Given the description of an element on the screen output the (x, y) to click on. 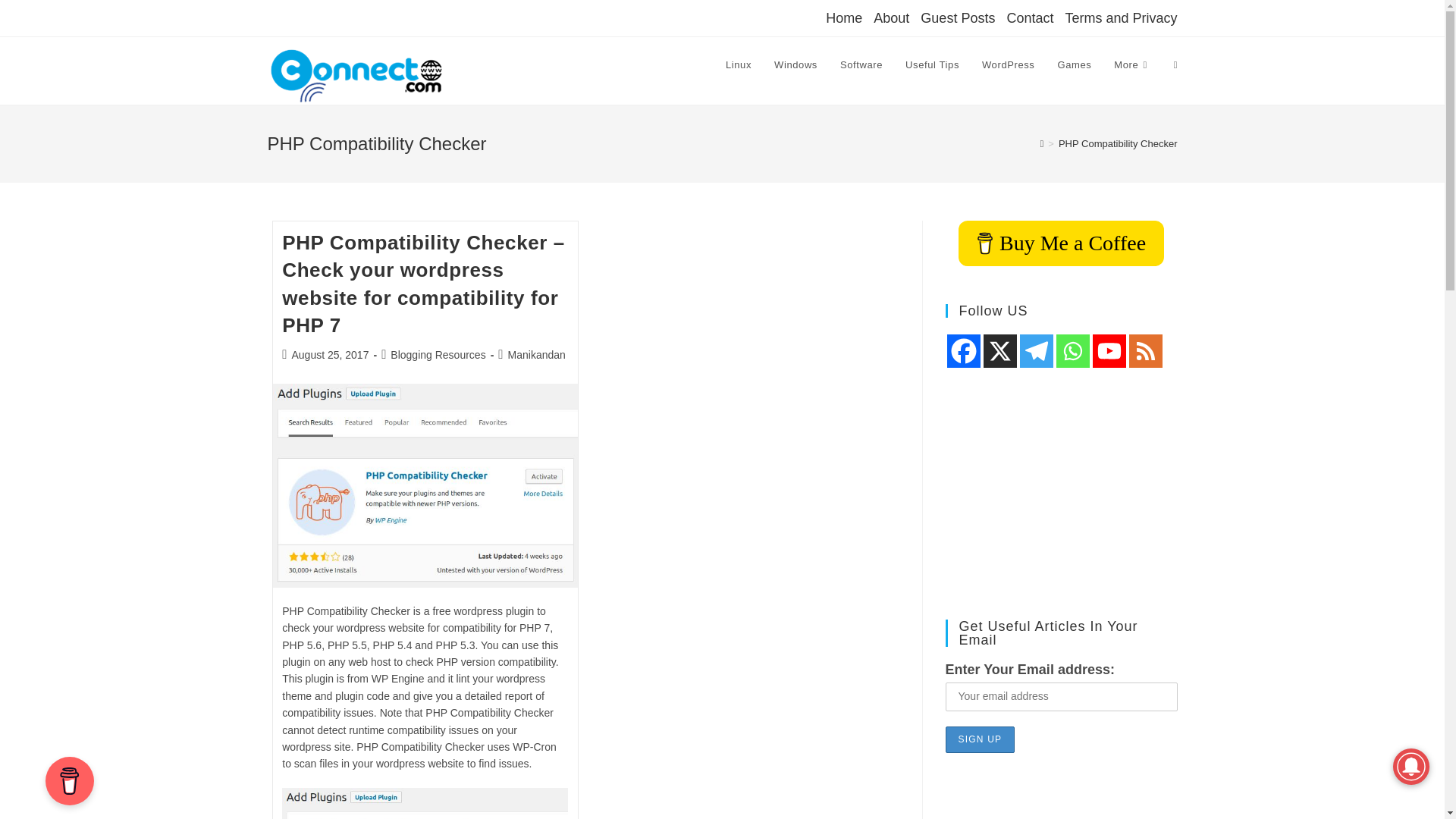
Advertisement (1060, 493)
X (999, 350)
Home (843, 17)
Sign up (979, 739)
Youtube Channel (1108, 350)
Software (860, 64)
Windows (795, 64)
Whatsapp (1072, 350)
Advertisement (1060, 800)
Facebook (962, 350)
Guest Posts (957, 17)
Games (1073, 64)
RSS feed (1144, 350)
More (1131, 64)
Posts by Manikandan (537, 354)
